Given the description of an element on the screen output the (x, y) to click on. 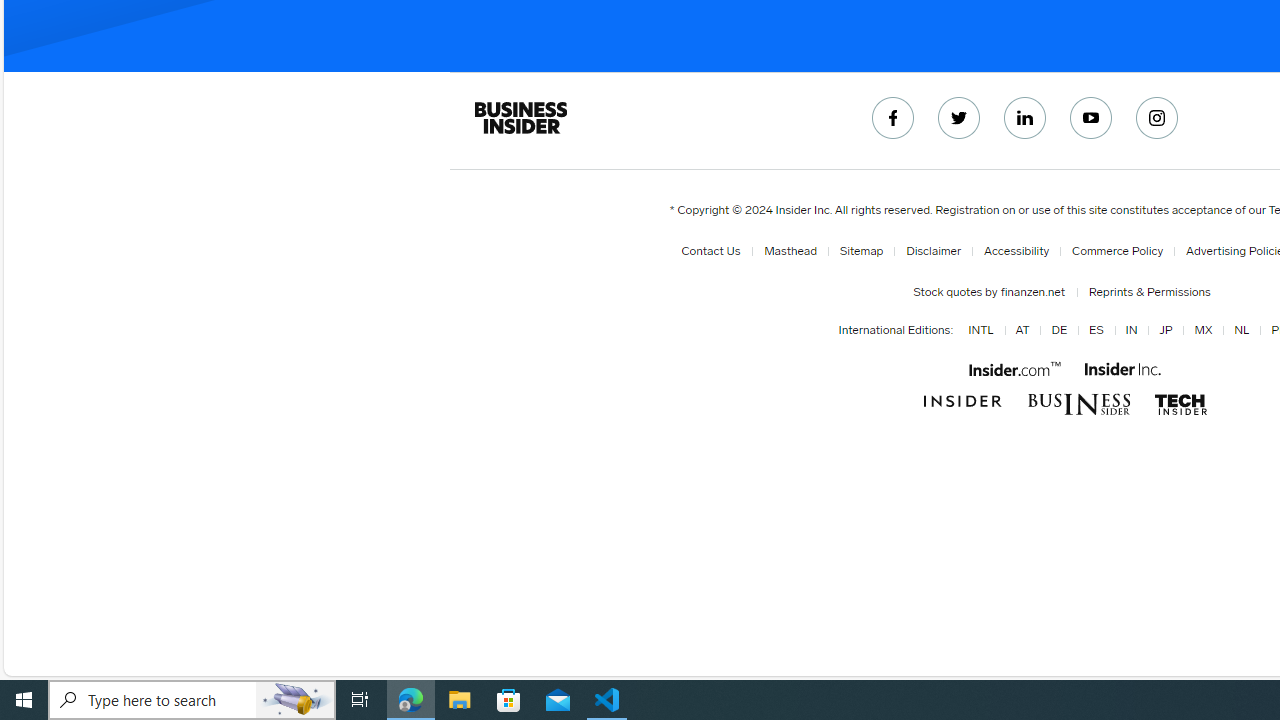
NL (1241, 331)
